Given the description of an element on the screen output the (x, y) to click on. 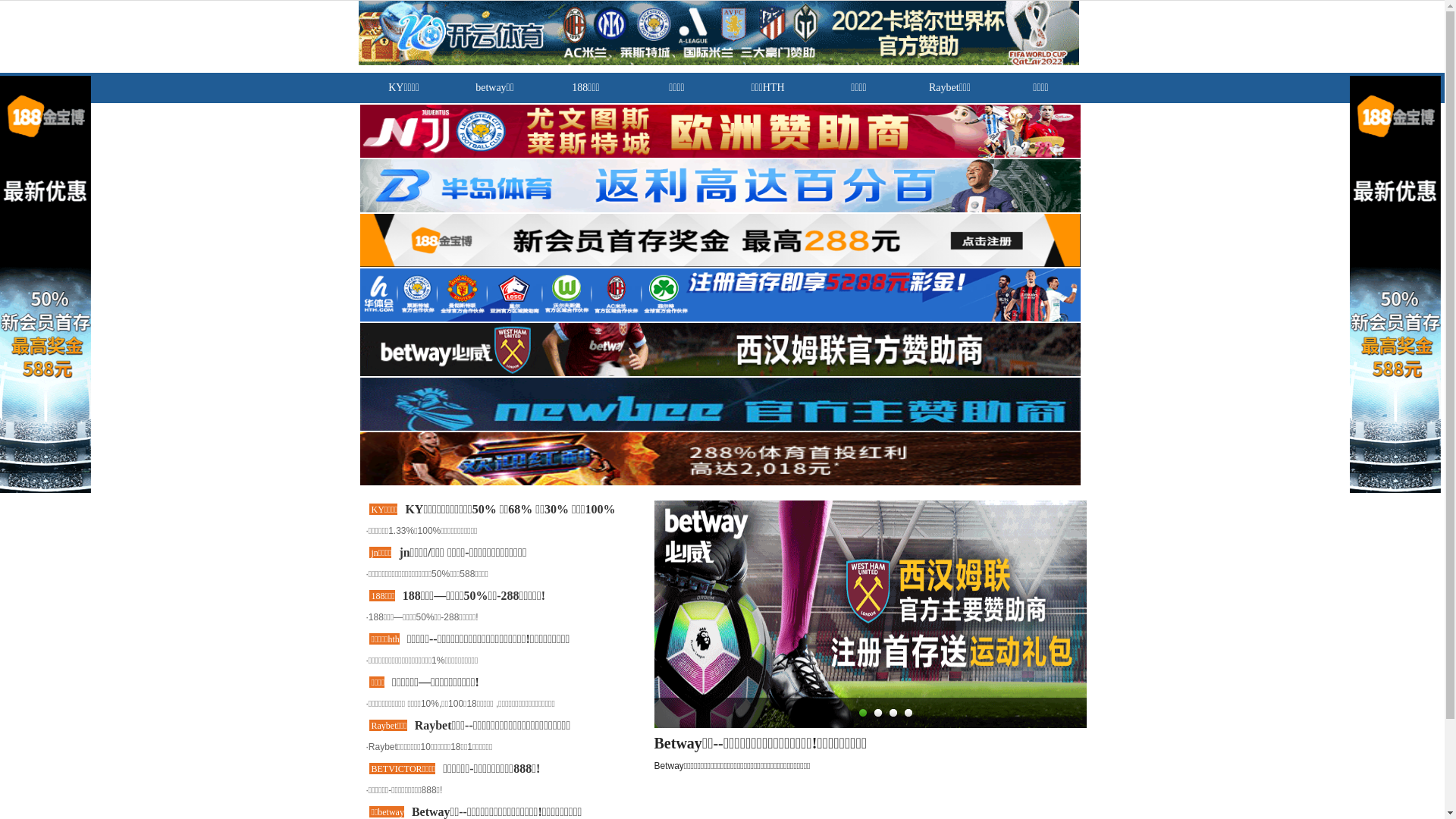
Search Element type: text (1164, 653)
Search for: Element type: hover (500, 767)
Skip to content Element type: text (0, 0)
Search for: Element type: hover (1046, 653)
Search Element type: text (710, 767)
+1-541-754-3010 Element type: text (453, 22)
info@creativthemes.com Element type: text (619, 22)
